Given the description of an element on the screen output the (x, y) to click on. 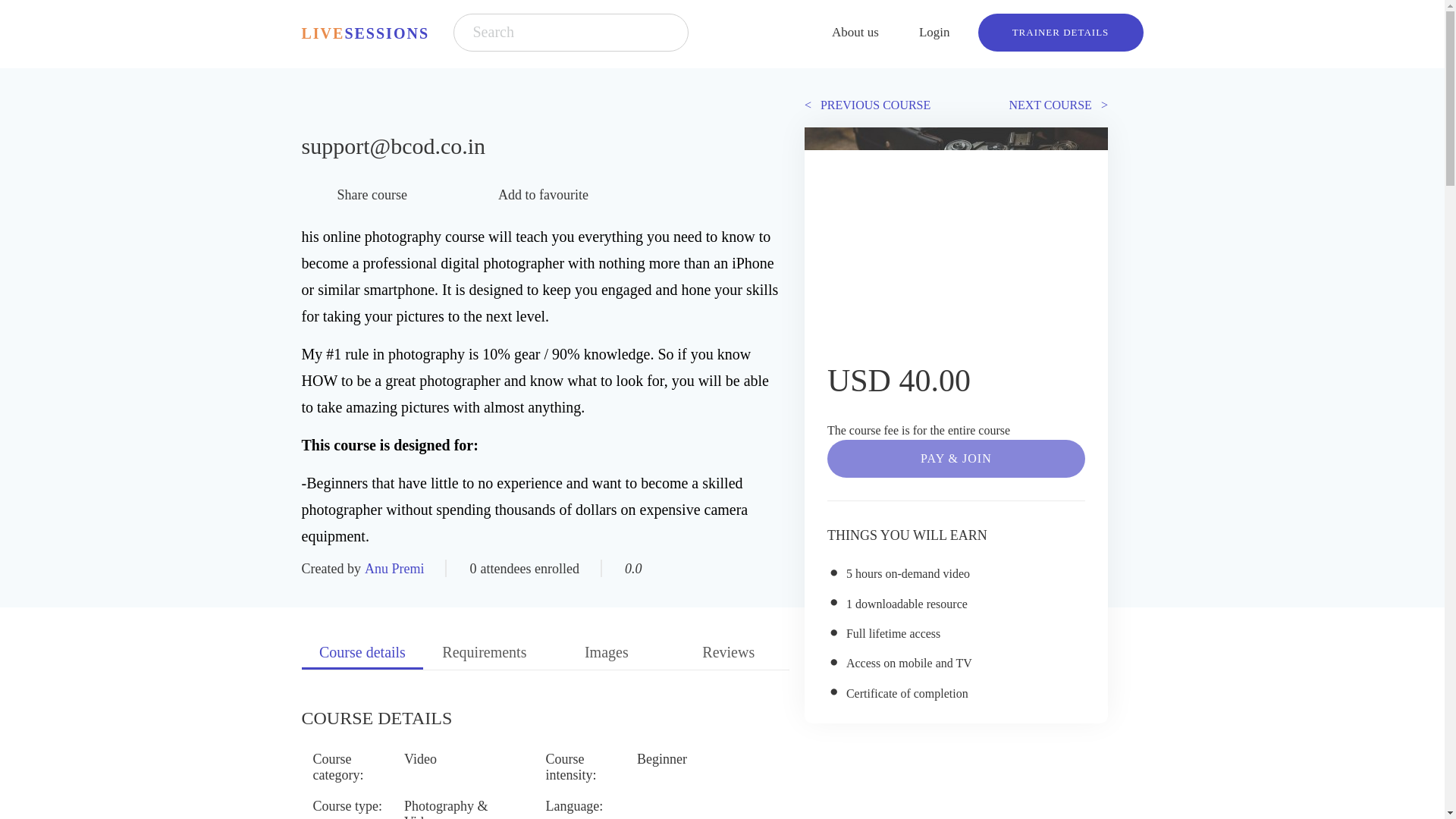
Anu Premi (393, 568)
Requirements (483, 653)
LIVESESSIONS (365, 31)
0.0 (633, 568)
Login (940, 29)
TRAINER DETAILS (1060, 32)
0 (472, 568)
Reviews (727, 653)
Images (605, 653)
About us (860, 29)
Course details (362, 653)
